Given the description of an element on the screen output the (x, y) to click on. 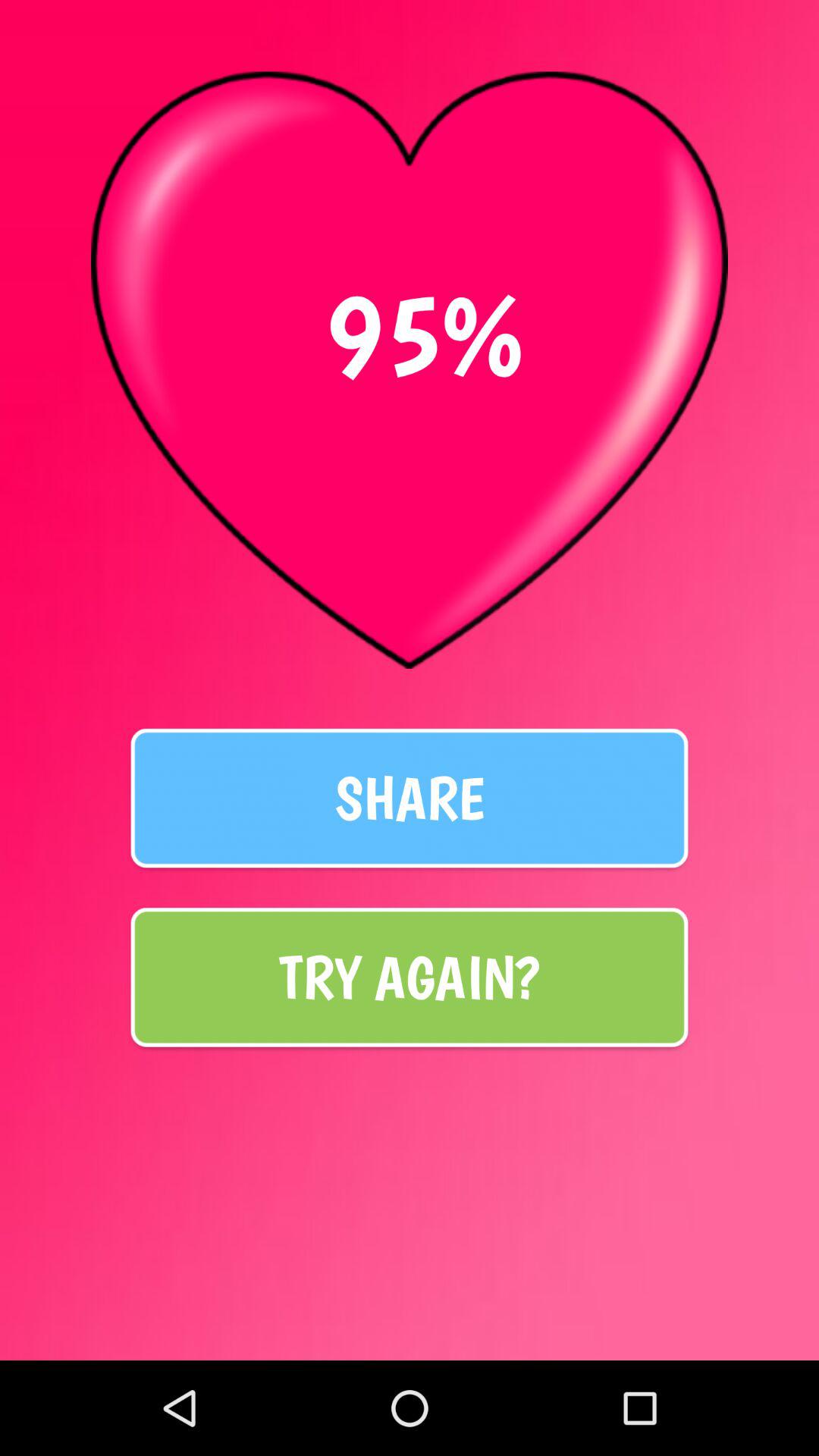
turn on the share at the center (409, 797)
